Given the description of an element on the screen output the (x, y) to click on. 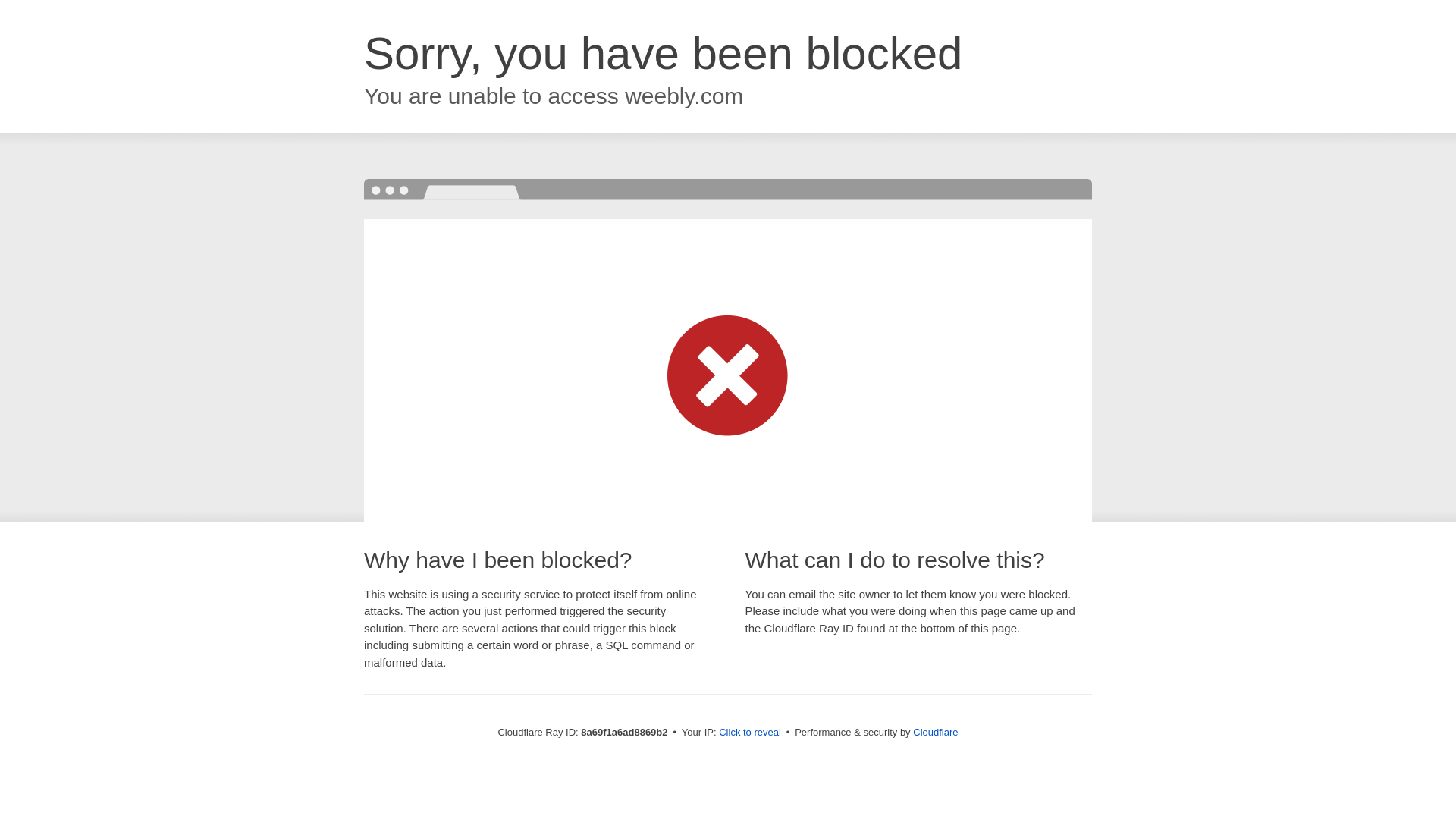
Cloudflare (935, 731)
Click to reveal (749, 732)
